Given the description of an element on the screen output the (x, y) to click on. 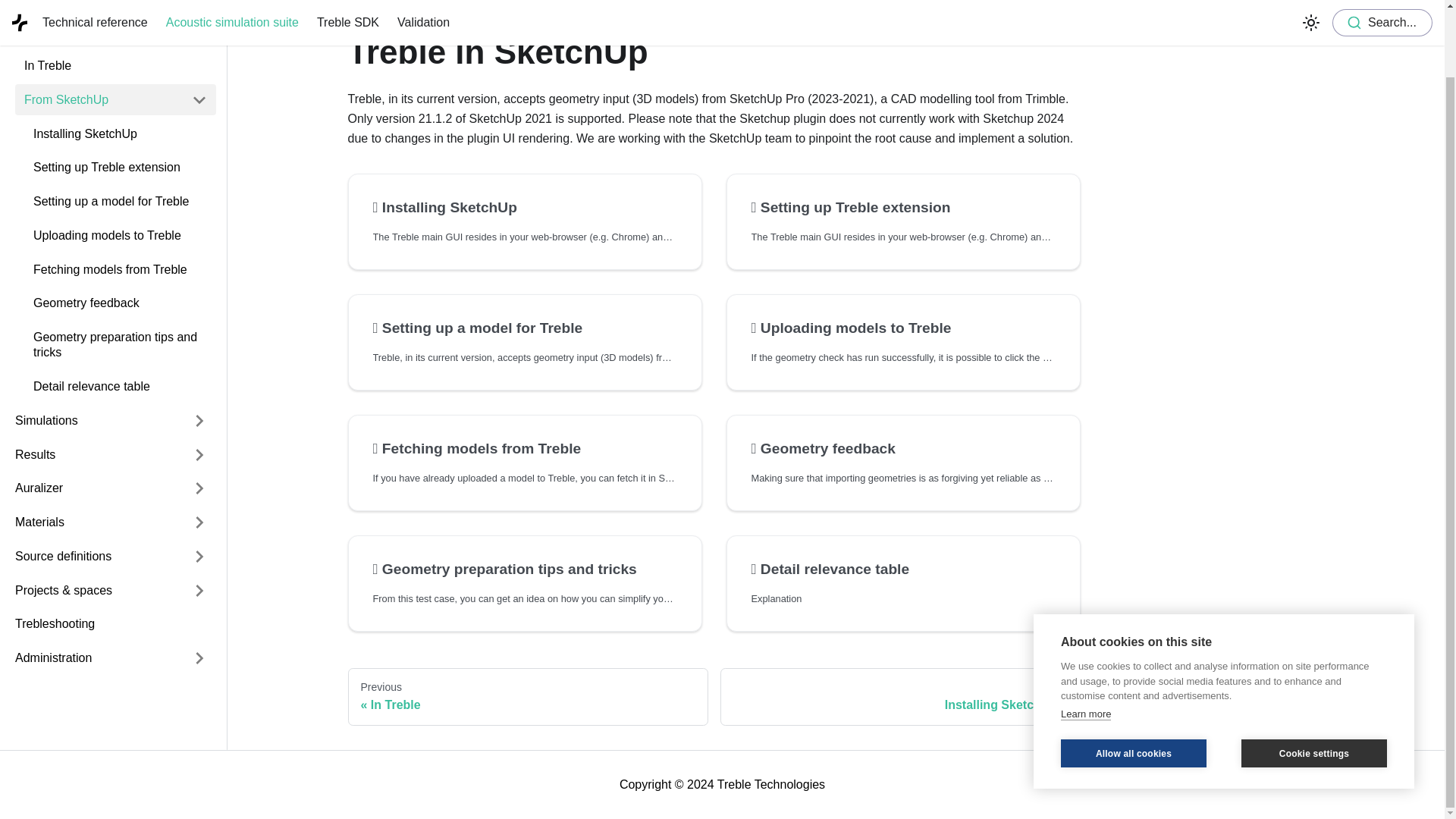
Importing models (94, 26)
Geometry feedback (119, 297)
Setting up Treble extension (119, 162)
Setting up a model for Treble (524, 328)
Setting up Treble extension (902, 208)
Geometry feedback (902, 448)
Allow all cookies (1134, 678)
Installing SketchUp (119, 128)
Uploading models to Treble (119, 229)
